Given the description of an element on the screen output the (x, y) to click on. 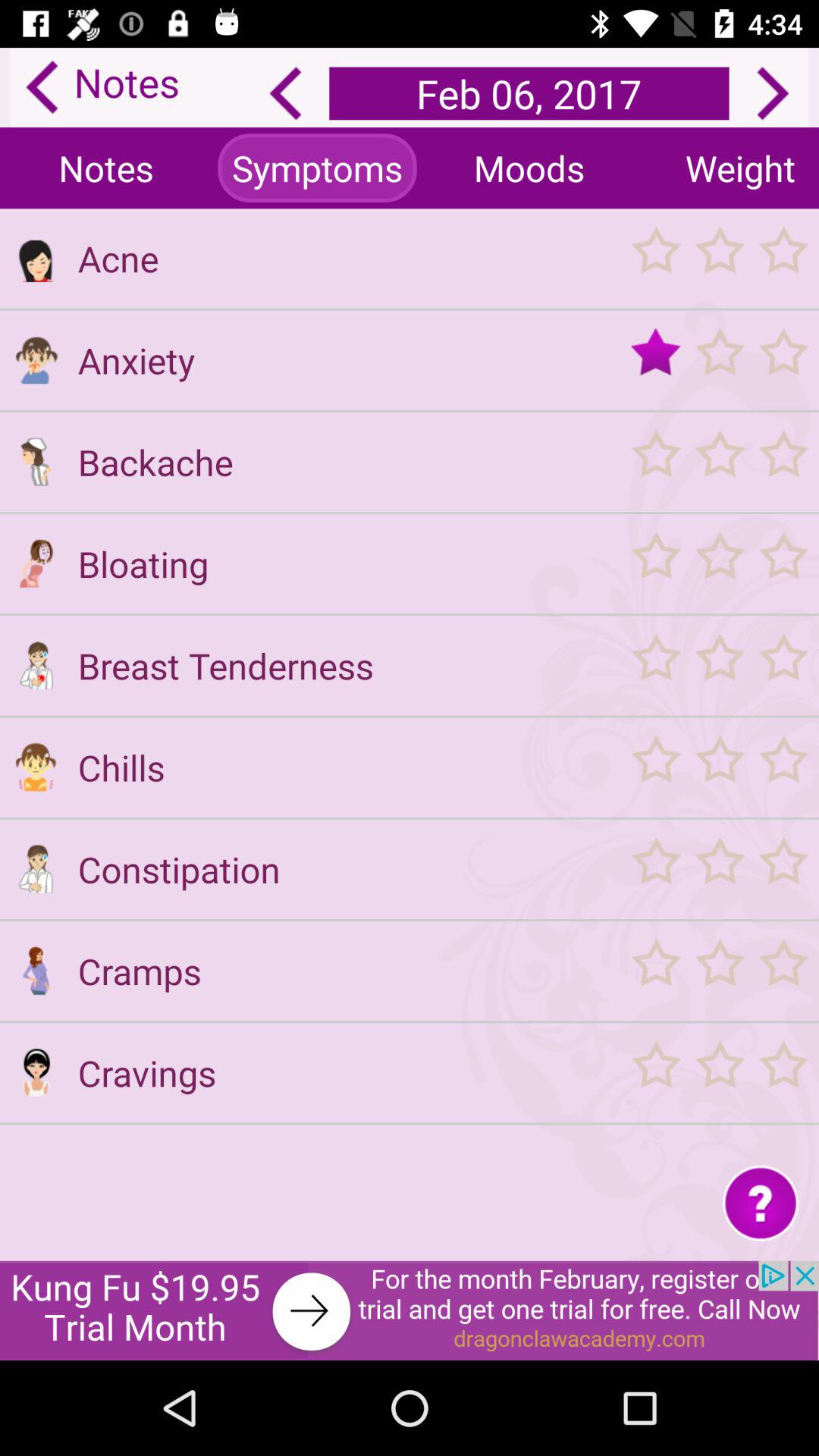
rate section (719, 258)
